Given the description of an element on the screen output the (x, y) to click on. 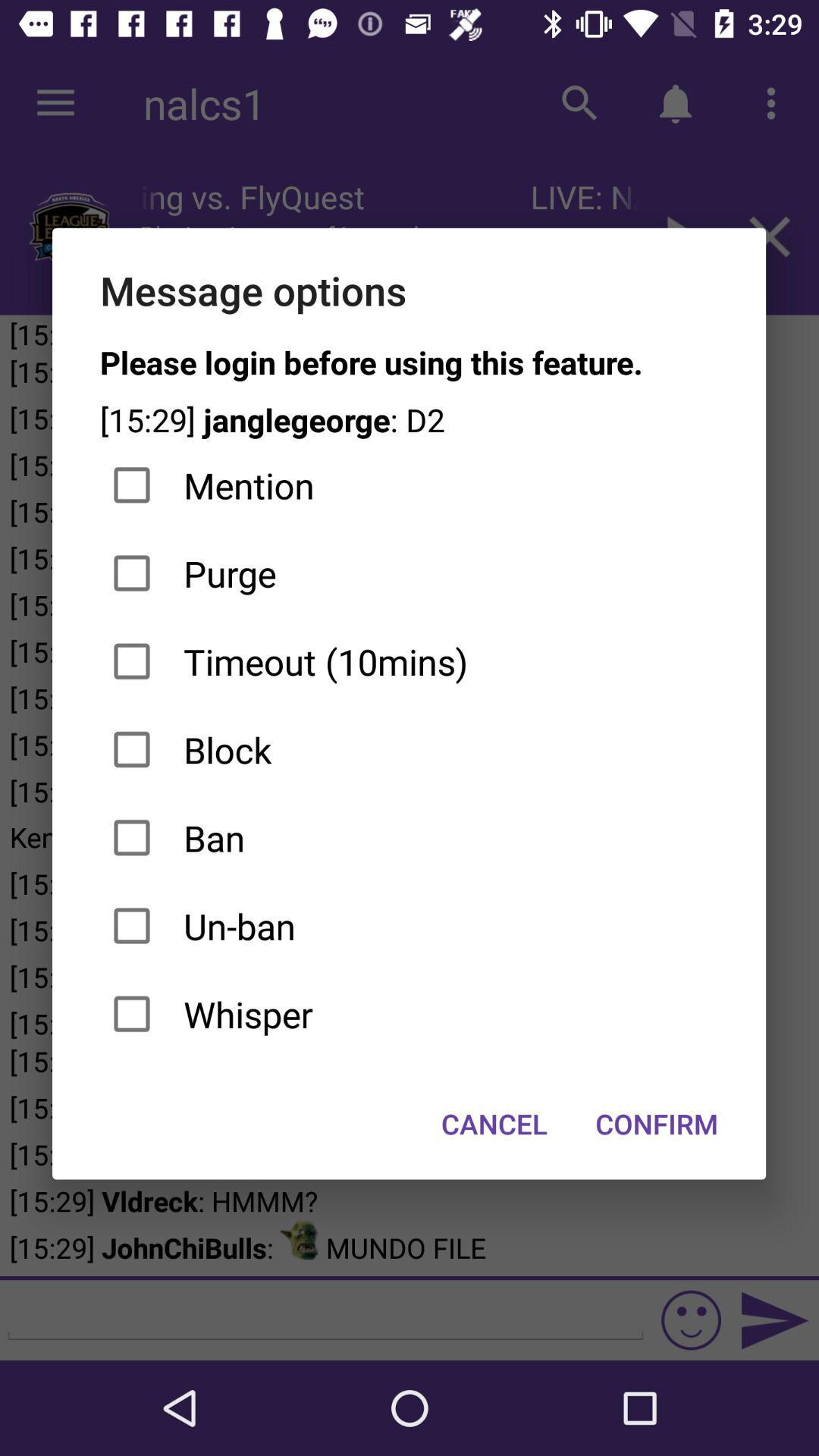
open the item above cancel item (409, 1014)
